Given the description of an element on the screen output the (x, y) to click on. 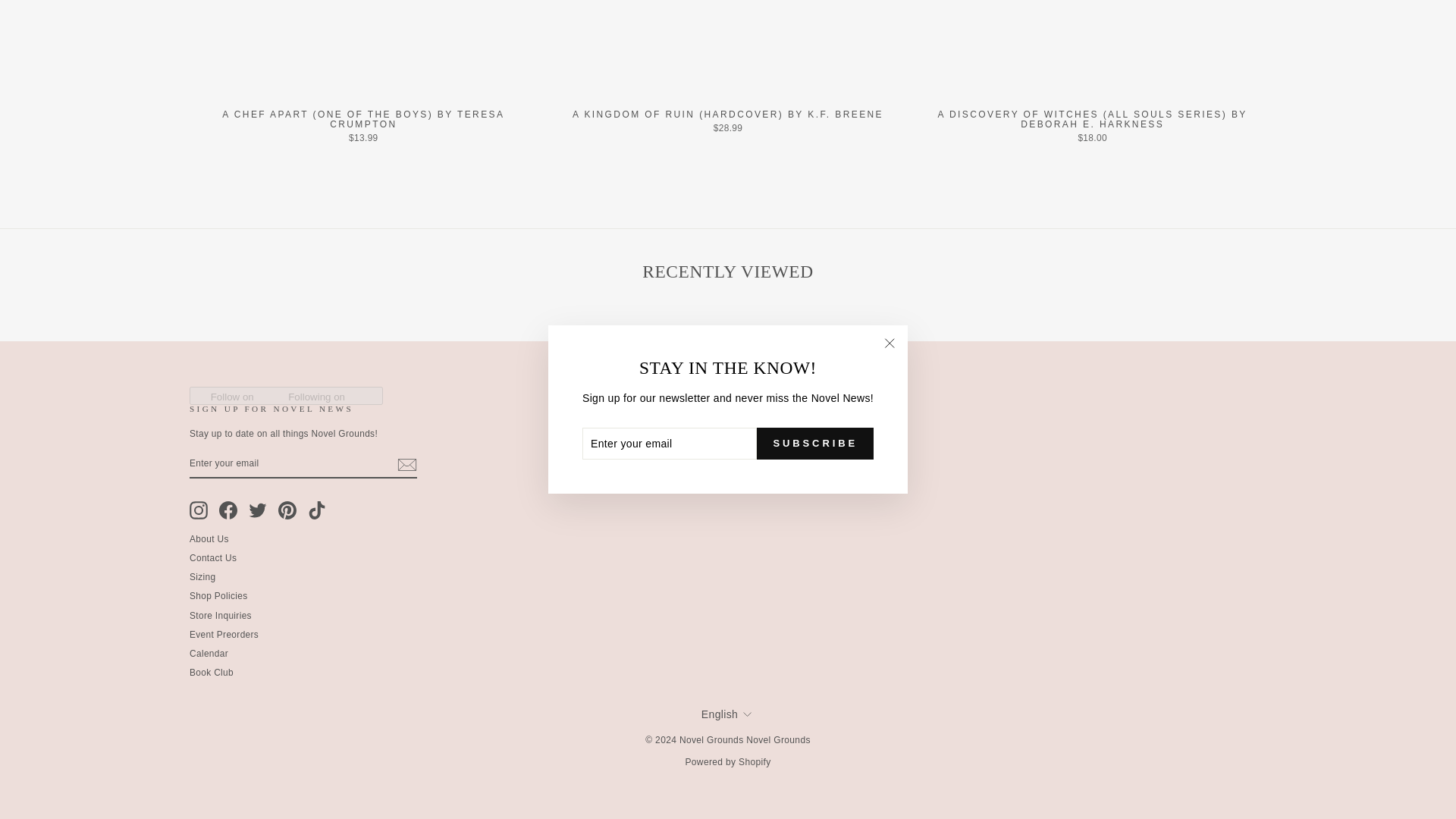
Novel Grounds on Instagram (198, 510)
Novel Grounds on Twitter (257, 510)
